Given the description of an element on the screen output the (x, y) to click on. 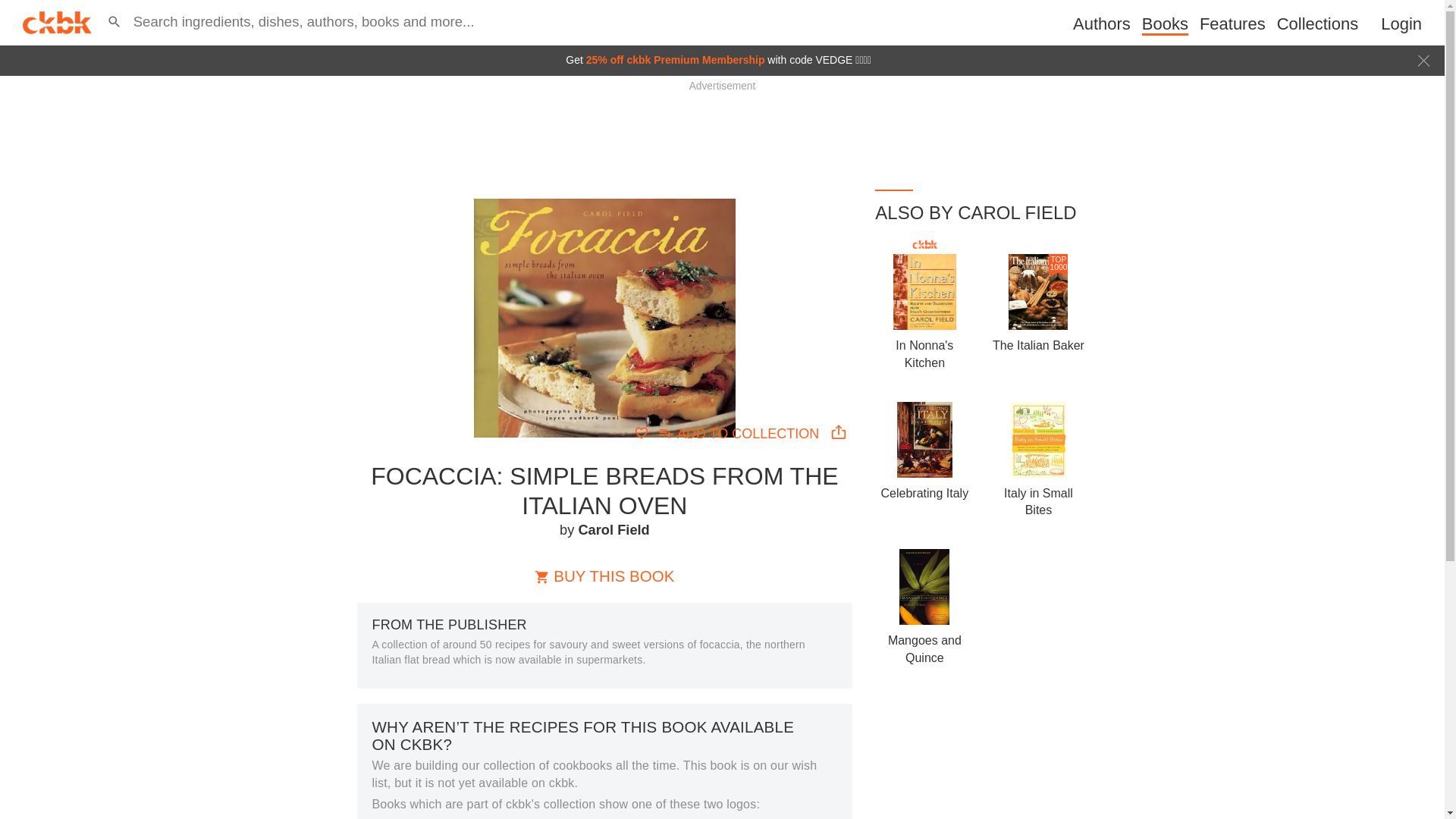
In Nonna's Kitchen (924, 353)
BUY THIS BOOK (604, 575)
Features (1232, 24)
Buy this book (604, 575)
search (16, 7)
Celebrating Italy (924, 492)
Login (1401, 23)
Mangoes and Quince (924, 648)
Advertisement (721, 124)
Italy in Small Bites (1038, 501)
